Given the description of an element on the screen output the (x, y) to click on. 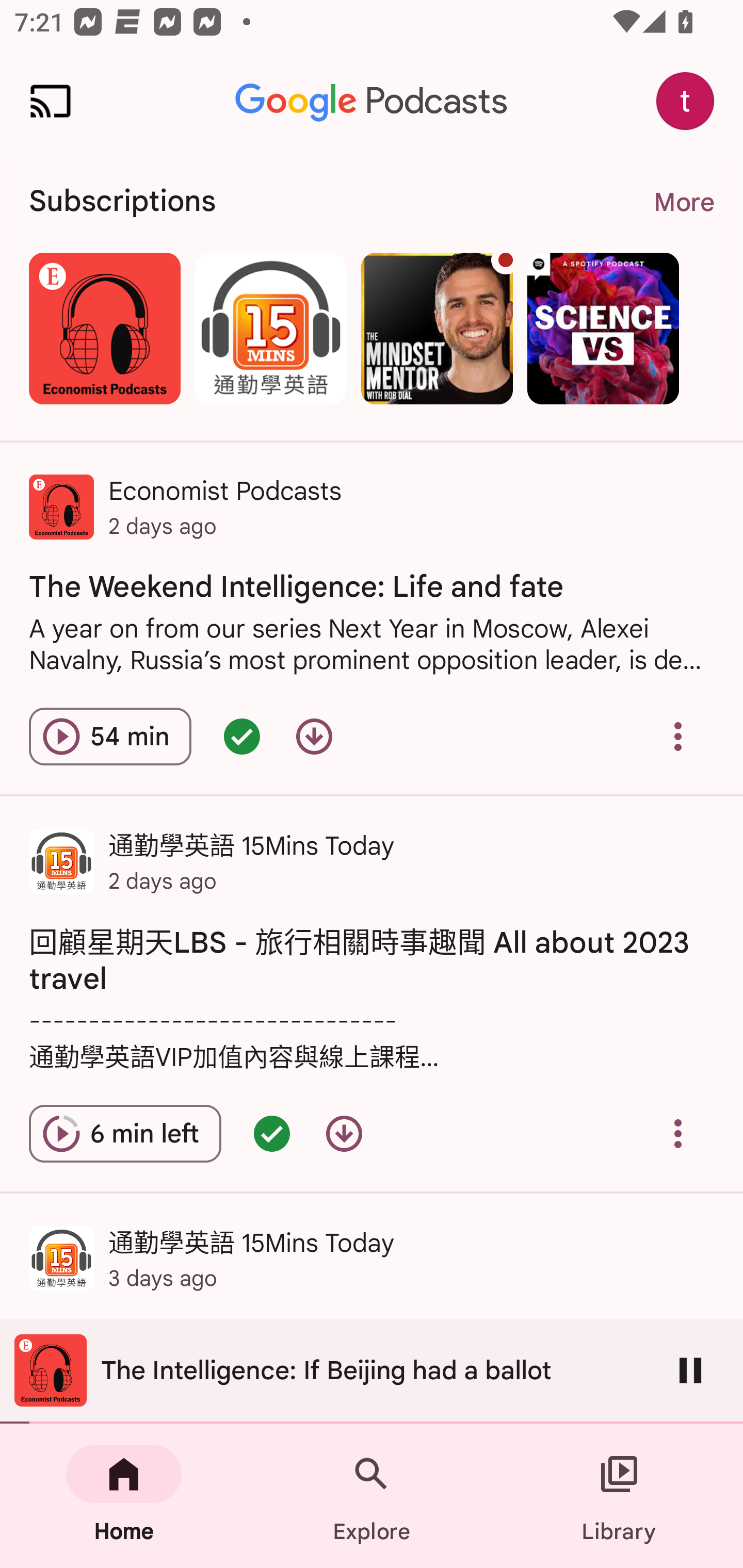
Cast. Disconnected (50, 101)
More More. Navigate to subscriptions page. (683, 202)
Economist Podcasts (104, 328)
通勤學英語 15Mins Today (270, 328)
The Mindset Mentor (436, 328)
Science Vs (603, 328)
Episode queued - double tap for options (241, 736)
Download episode (313, 736)
Overflow menu (677, 736)
Episode queued - double tap for options (271, 1133)
Download episode (344, 1133)
Overflow menu (677, 1133)
Pause (690, 1370)
Explore (371, 1495)
Library (619, 1495)
